Given the description of an element on the screen output the (x, y) to click on. 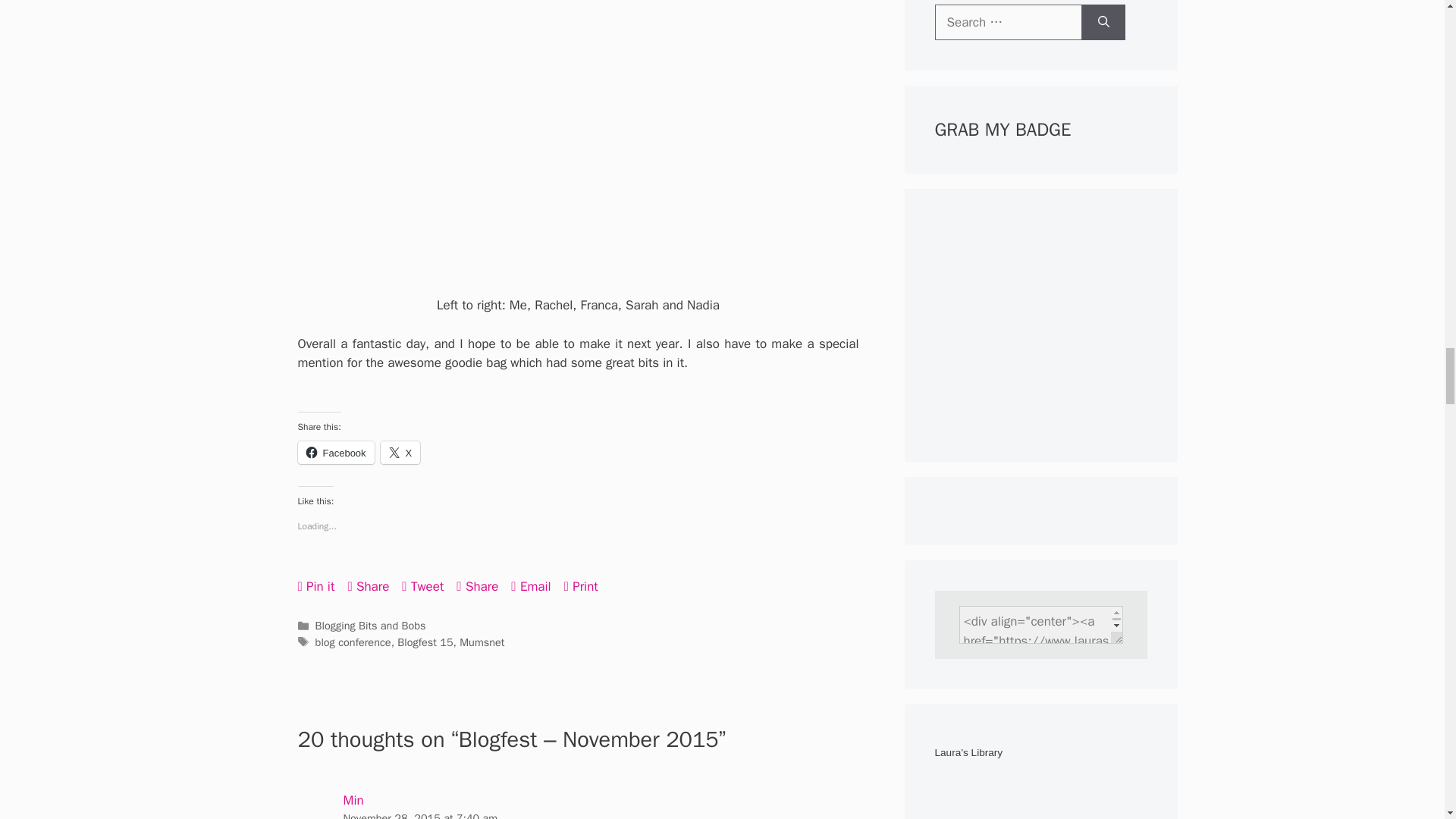
Search for: (1007, 22)
Click to share on Facebook (335, 452)
Share by Email (530, 585)
Click to share on X (400, 452)
